Given the description of an element on the screen output the (x, y) to click on. 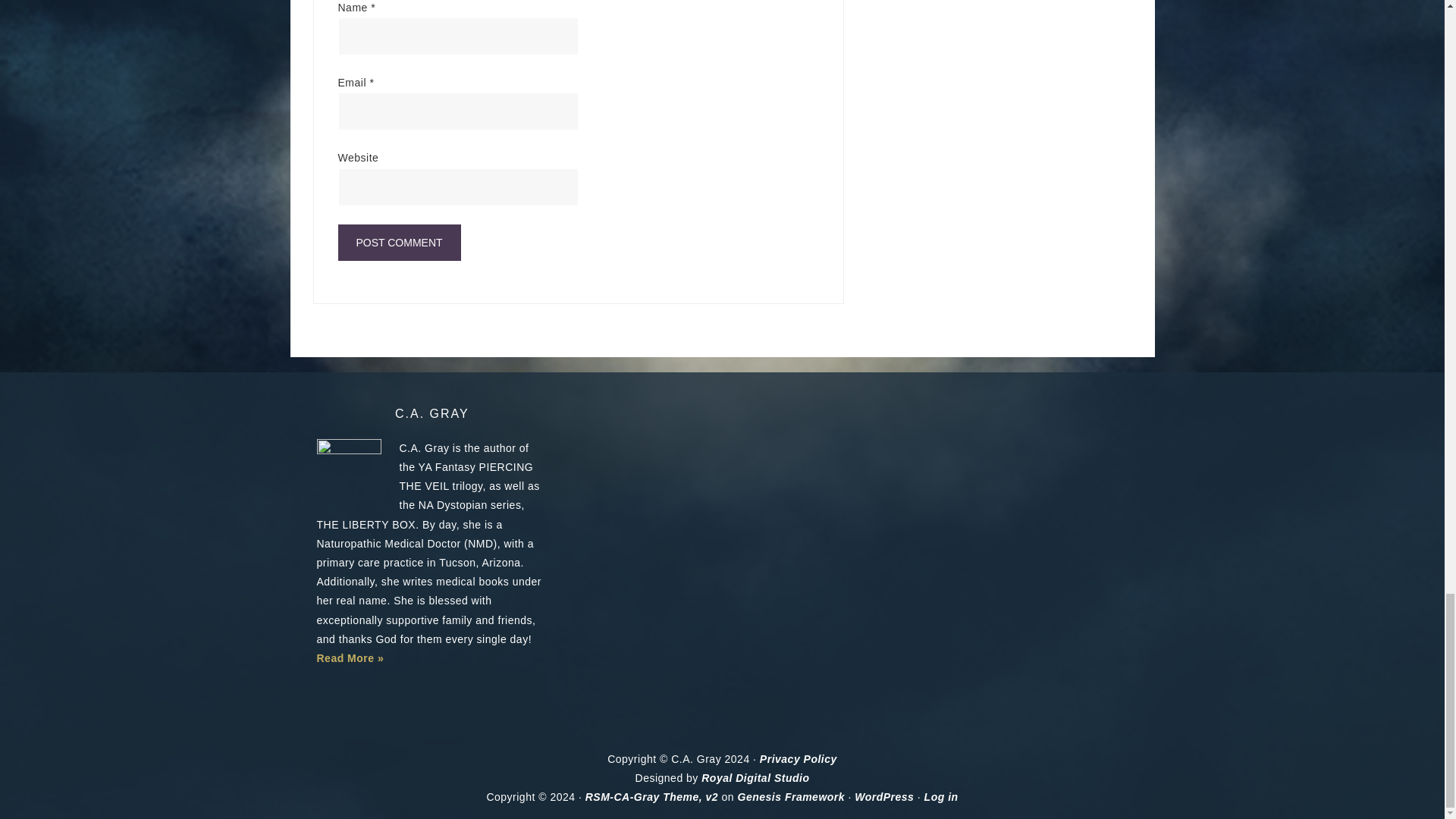
Post Comment (399, 242)
